Given the description of an element on the screen output the (x, y) to click on. 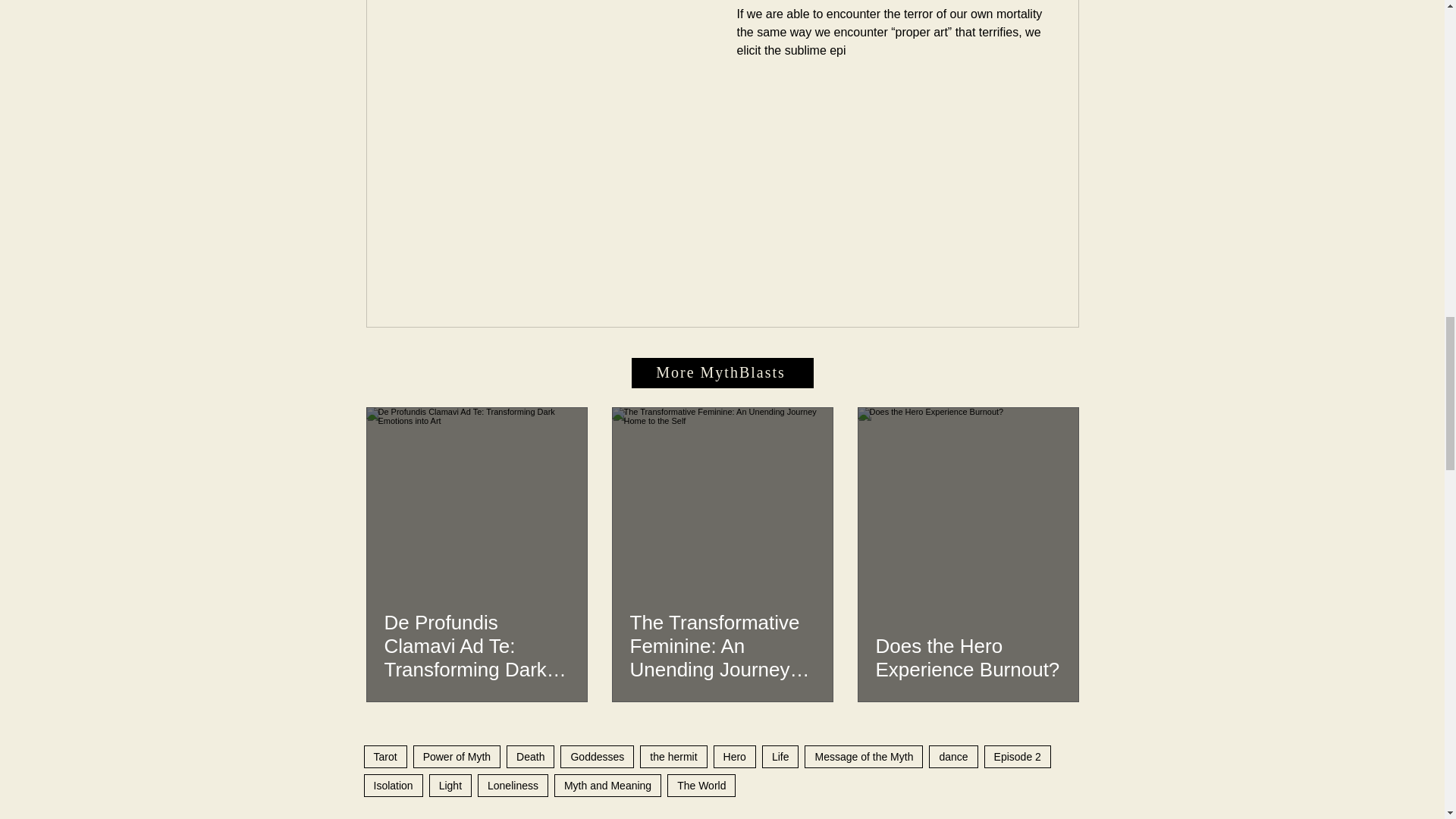
More MythBlasts (721, 372)
